Given the description of an element on the screen output the (x, y) to click on. 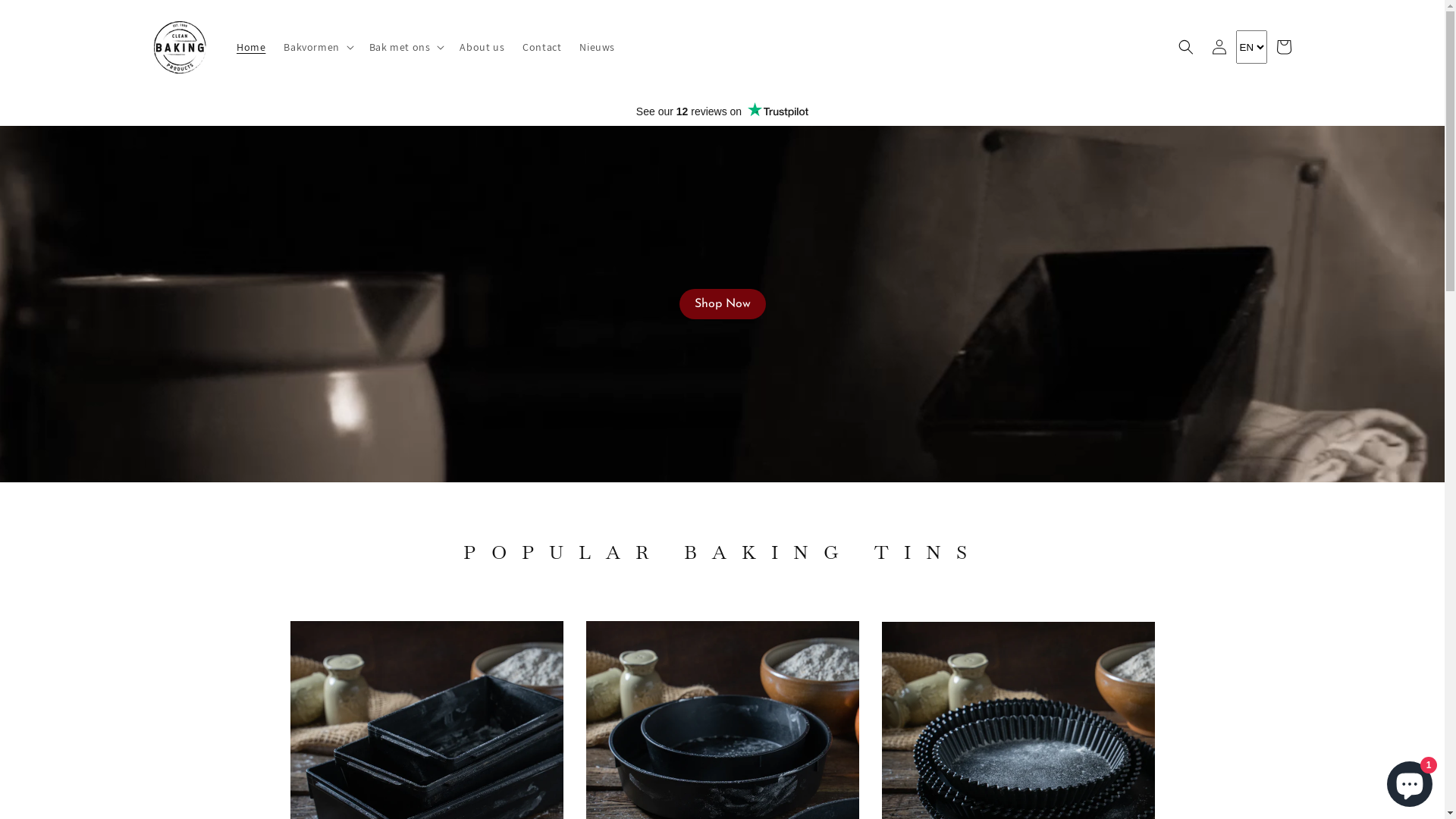
Shop Now Element type: text (722, 303)
Log in Element type: text (1219, 46)
Shopify online store chat Element type: hover (1409, 780)
Home Element type: text (250, 46)
Customer reviews powered by Trustpilot Element type: hover (722, 109)
Nieuws Element type: text (597, 46)
Contact Element type: text (541, 46)
Cart Element type: text (1282, 46)
About us Element type: text (481, 46)
